Given the description of an element on the screen output the (x, y) to click on. 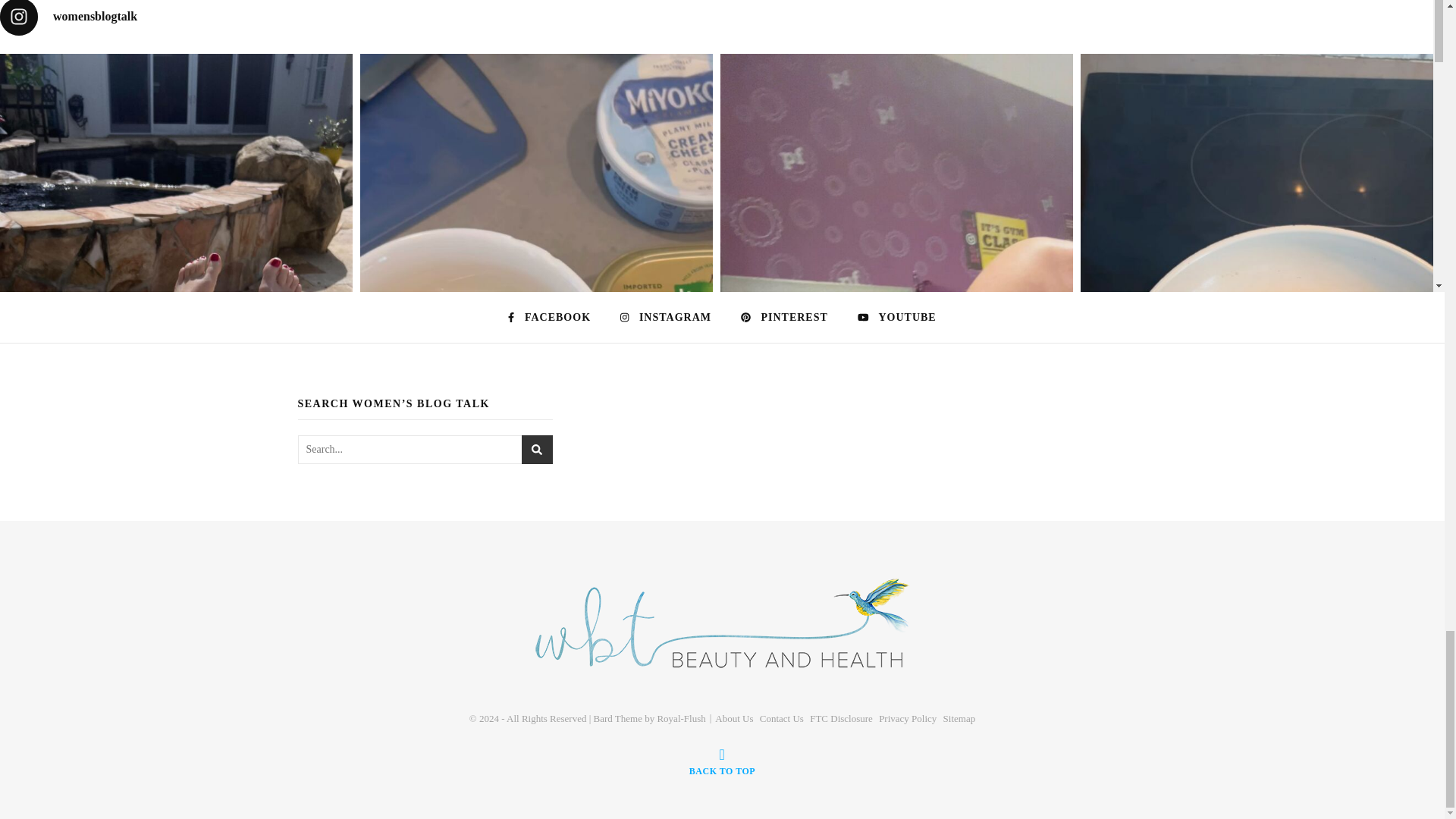
BACK TO TOP (722, 761)
